Given the description of an element on the screen output the (x, y) to click on. 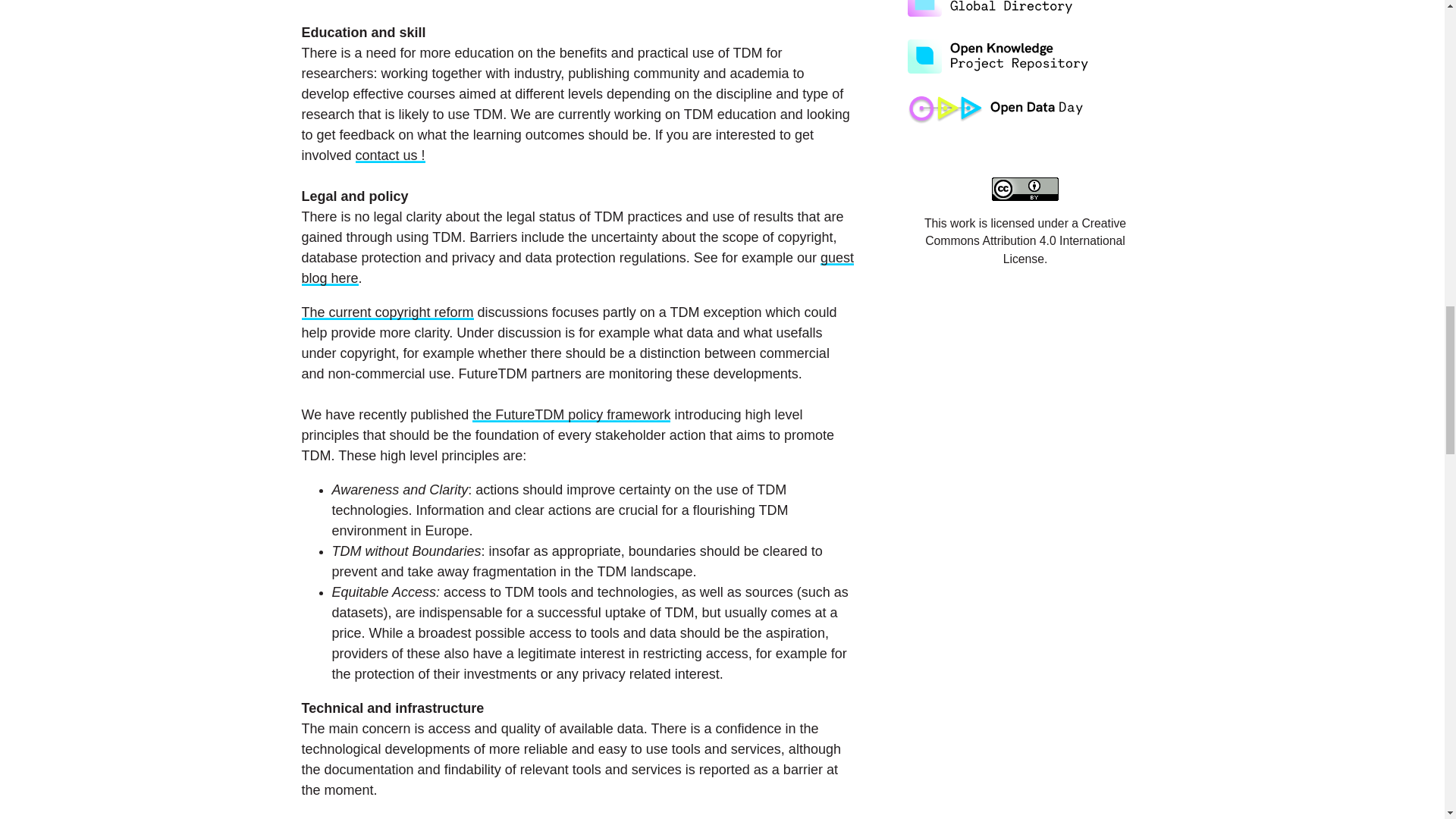
guest blog here (577, 267)
contact us ! (390, 155)
The current copyright reform (387, 312)
the FutureTDM policy framework (570, 414)
